Given the description of an element on the screen output the (x, y) to click on. 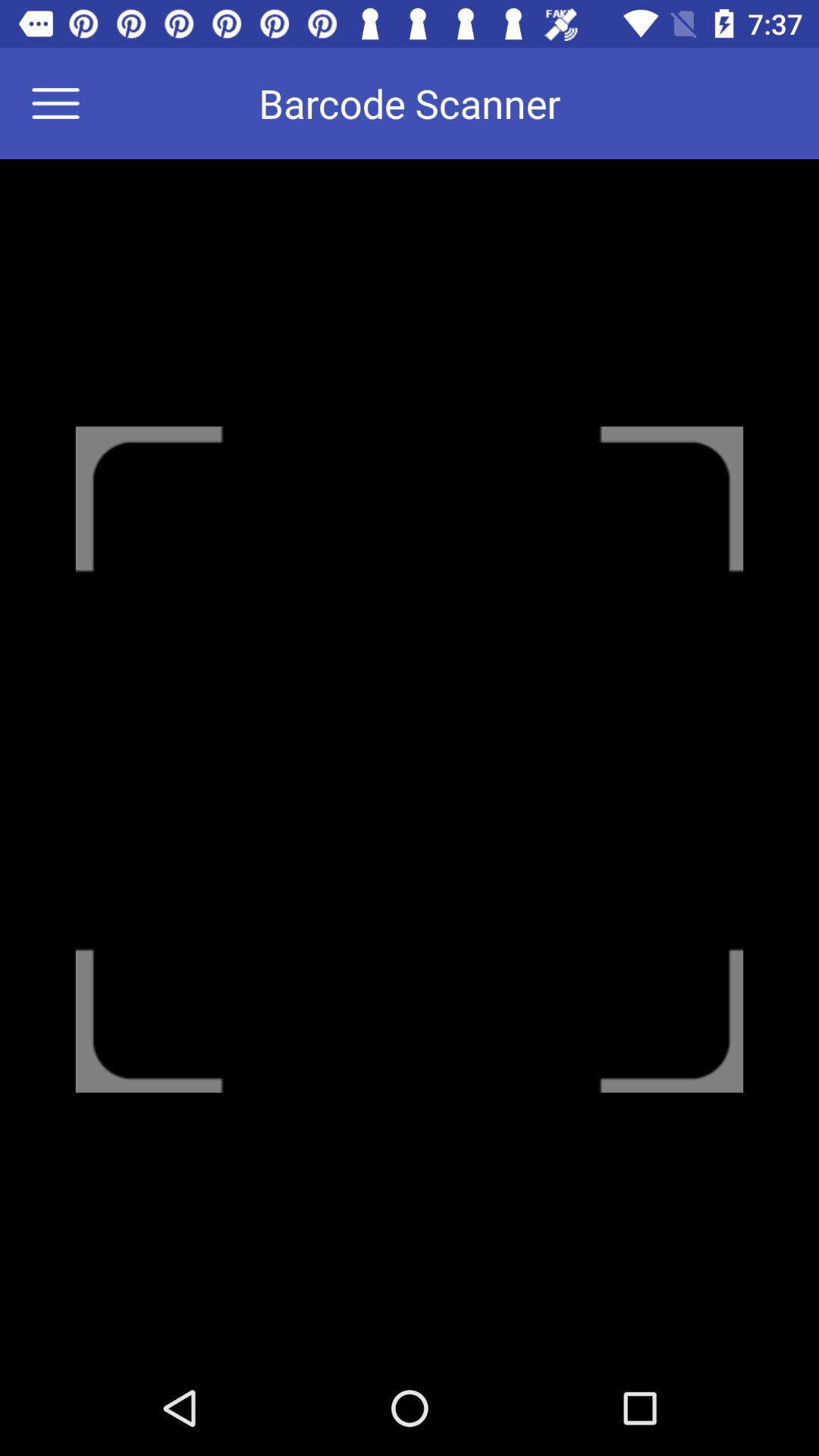
menu options (65, 103)
